Given the description of an element on the screen output the (x, y) to click on. 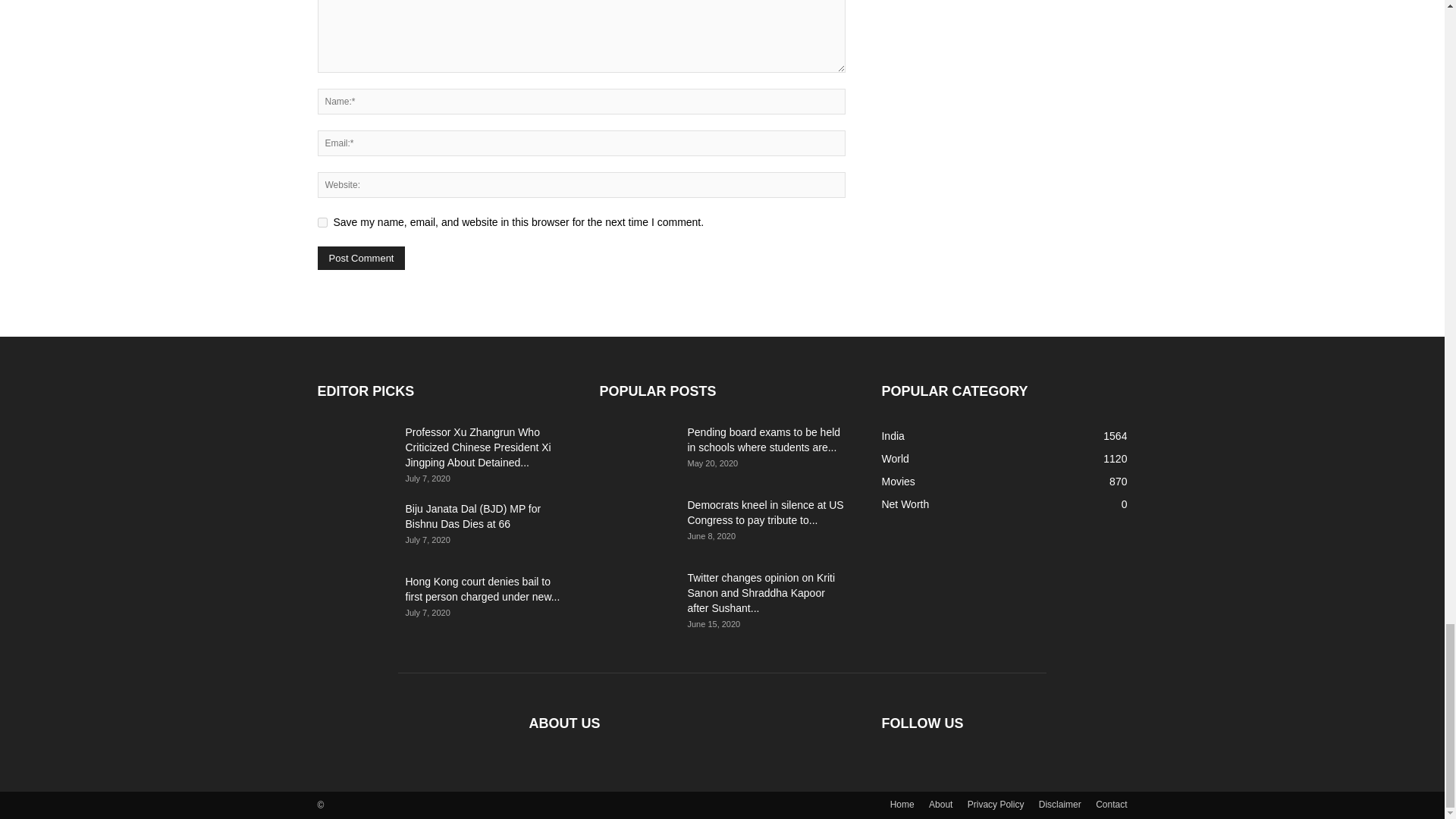
yes (321, 222)
Post Comment (360, 258)
